Given the description of an element on the screen output the (x, y) to click on. 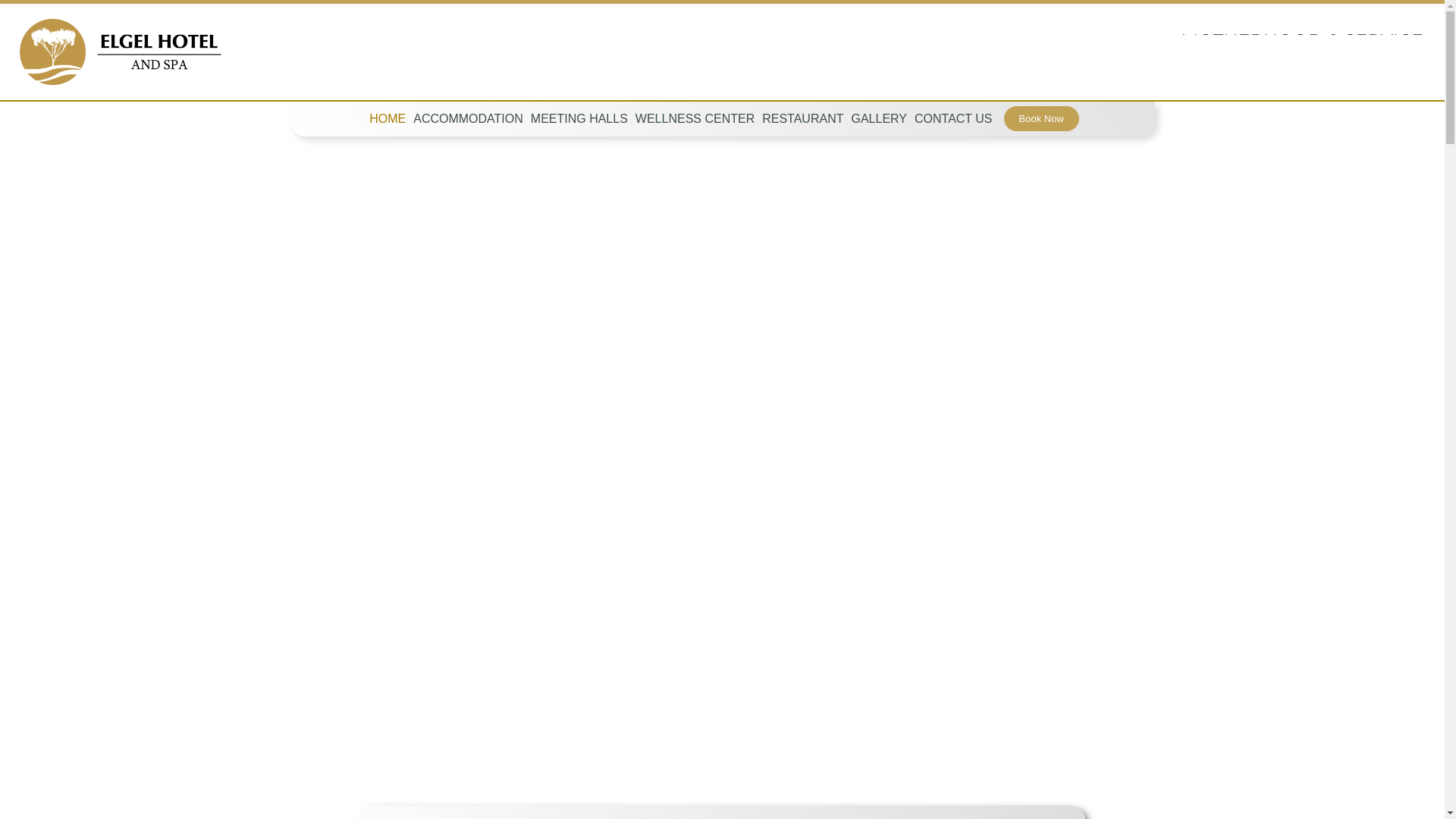
WELLNESS CENTER (694, 118)
HOME (387, 118)
CONTACT US (953, 118)
MEETING HALLS (579, 118)
RESTAURANT (802, 118)
GALLERY (879, 118)
Book Now (1041, 118)
ACCOMMODATION (468, 118)
